Given the description of an element on the screen output the (x, y) to click on. 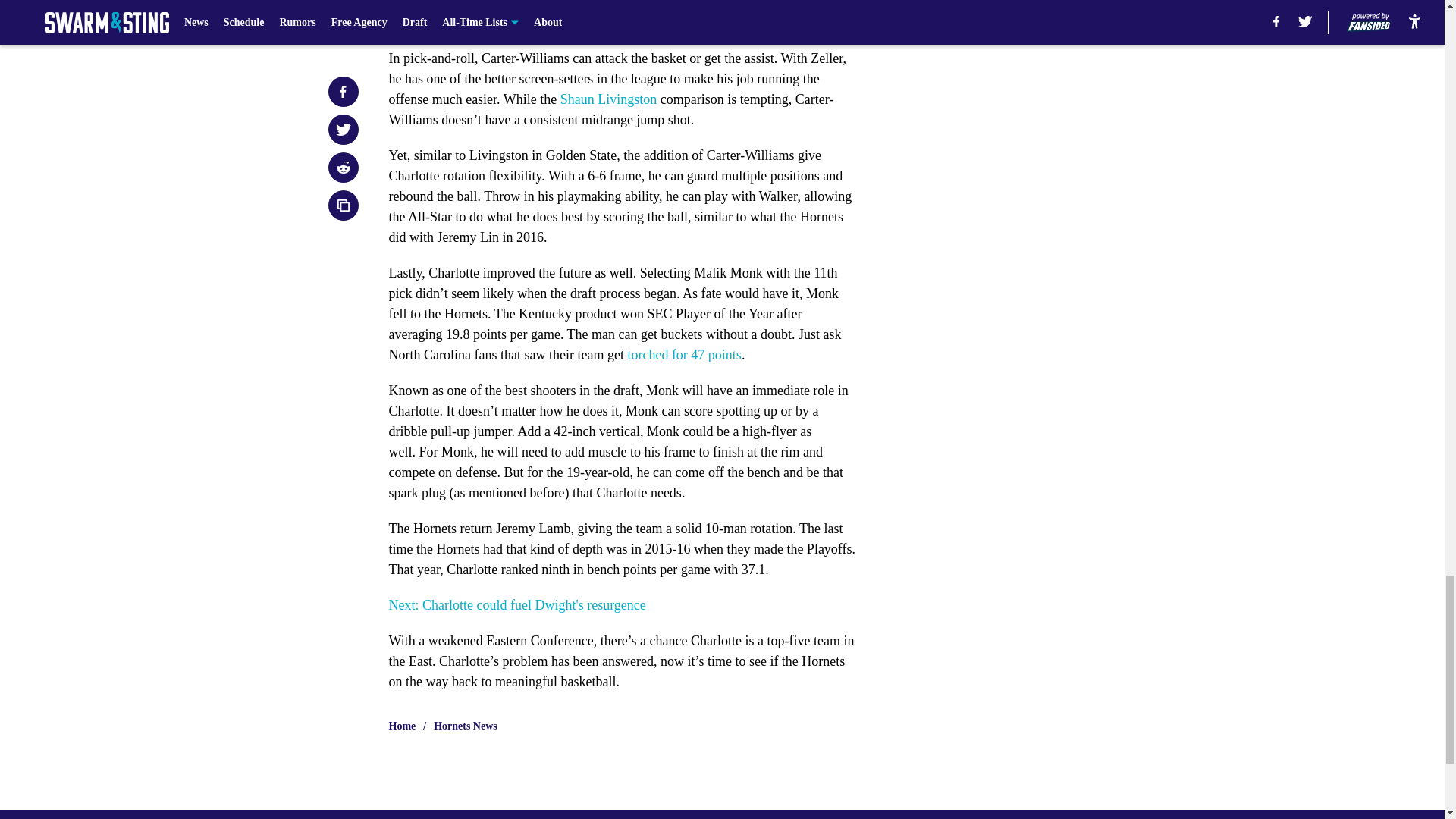
Home (401, 726)
Next: Charlotte could fuel Dwight's resurgence (516, 604)
Hornets News (465, 726)
Shaun Livingston (609, 99)
torched for 47 points (684, 354)
